Given the description of an element on the screen output the (x, y) to click on. 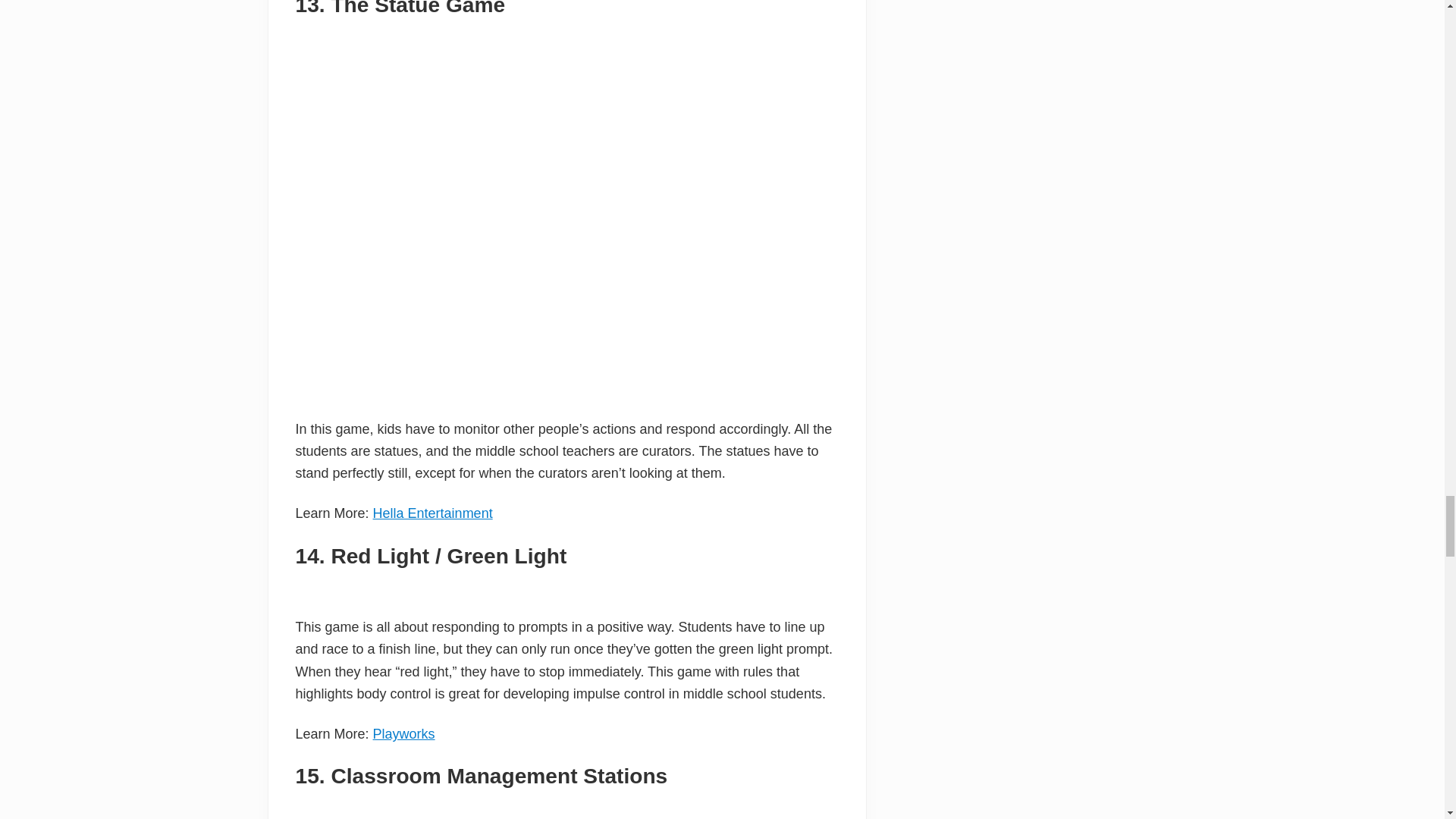
Playworks (403, 734)
Hella Entertainment (432, 513)
